Given the description of an element on the screen output the (x, y) to click on. 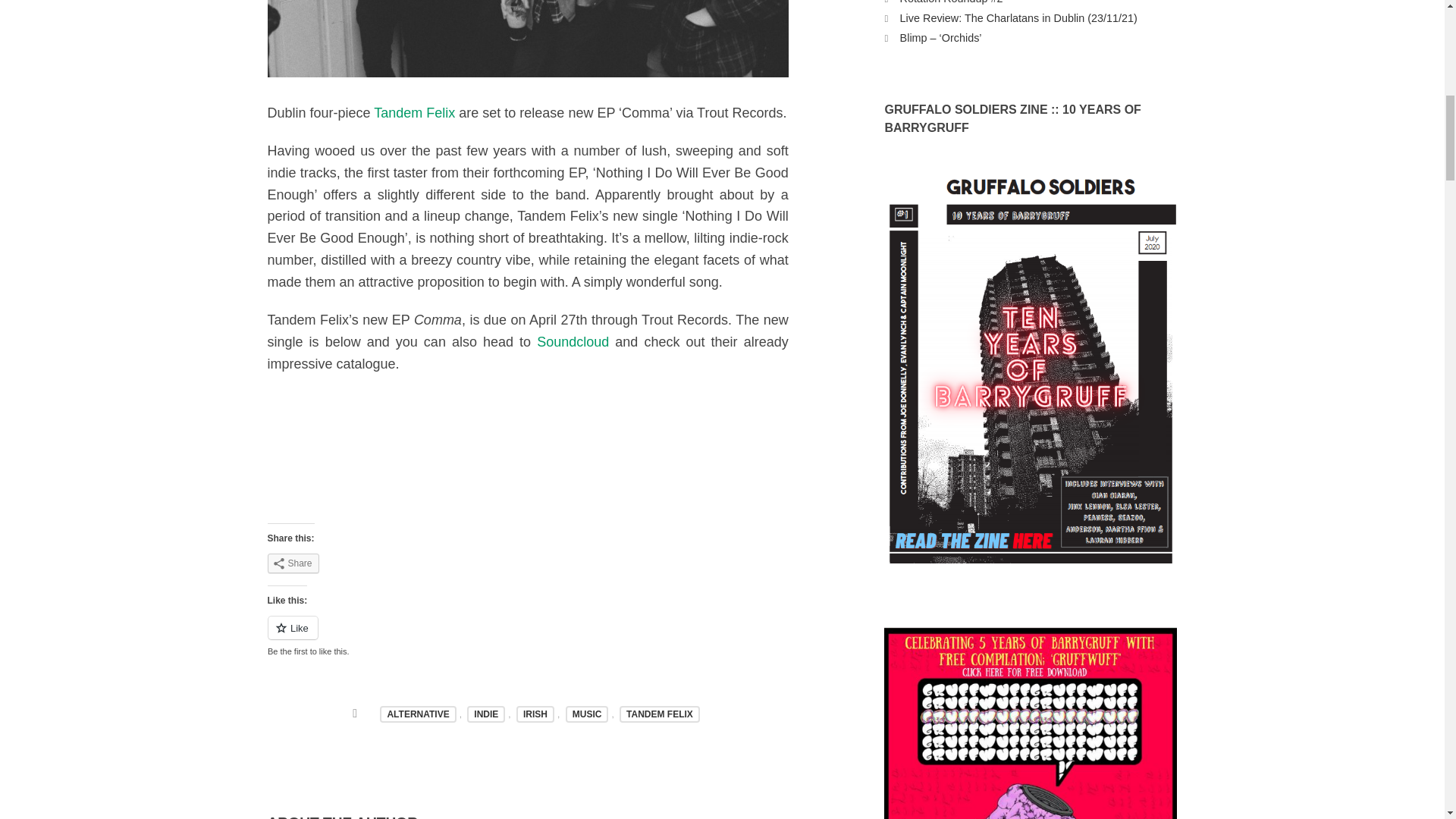
TANDEM FELIX (660, 713)
Share (292, 563)
MUSIC (587, 713)
INDIE (486, 713)
Soundcloud (572, 341)
IRISH (535, 713)
ALTERNATIVE (417, 713)
Tandem Felix (414, 112)
